Given the description of an element on the screen output the (x, y) to click on. 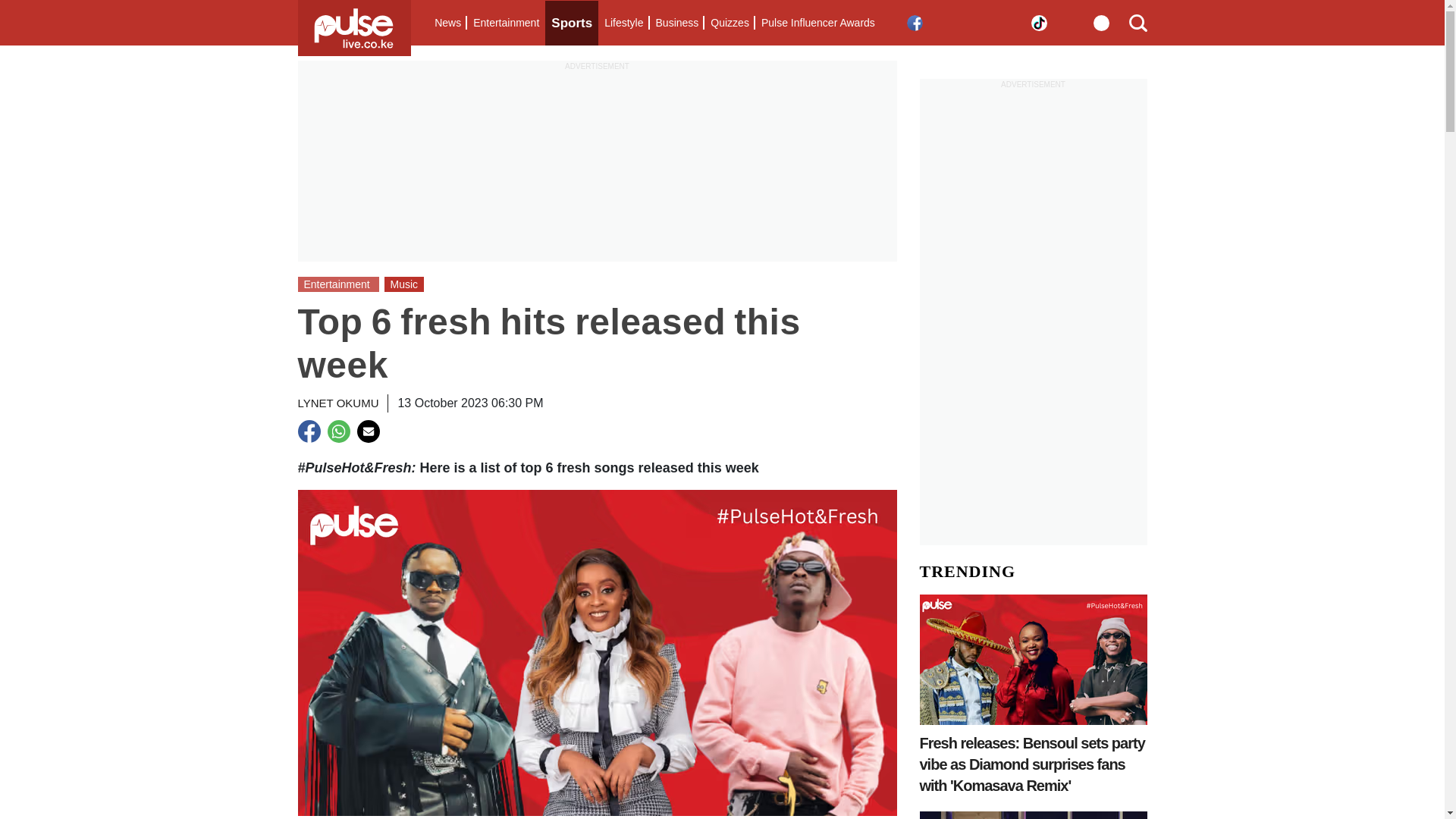
Sports (571, 22)
Business (676, 22)
News (447, 22)
Pulse Influencer Awards (817, 22)
Quizzes (729, 22)
Lifestyle (623, 22)
Entertainment (505, 22)
